Given the description of an element on the screen output the (x, y) to click on. 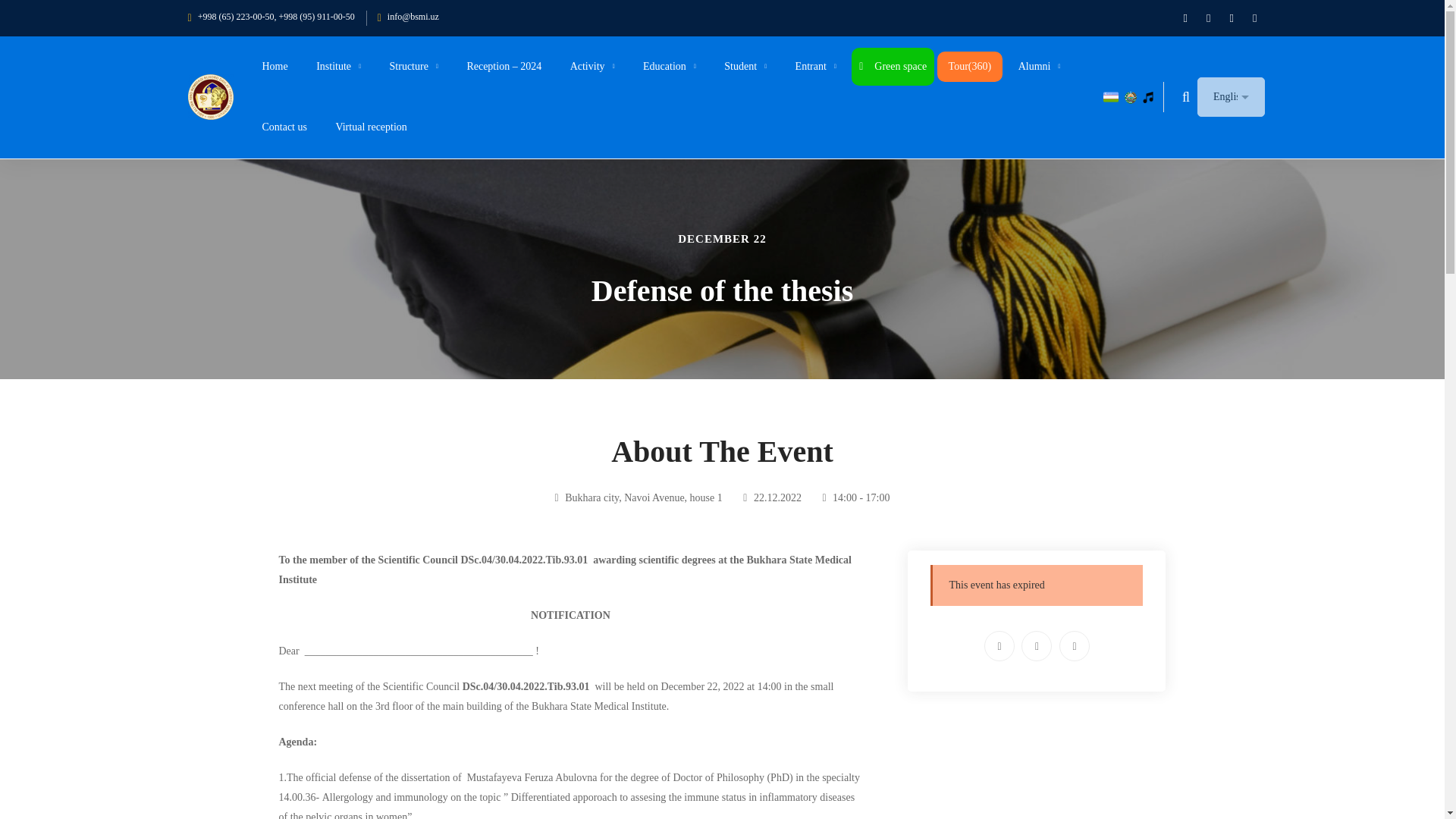
Institute (338, 66)
